Given the description of an element on the screen output the (x, y) to click on. 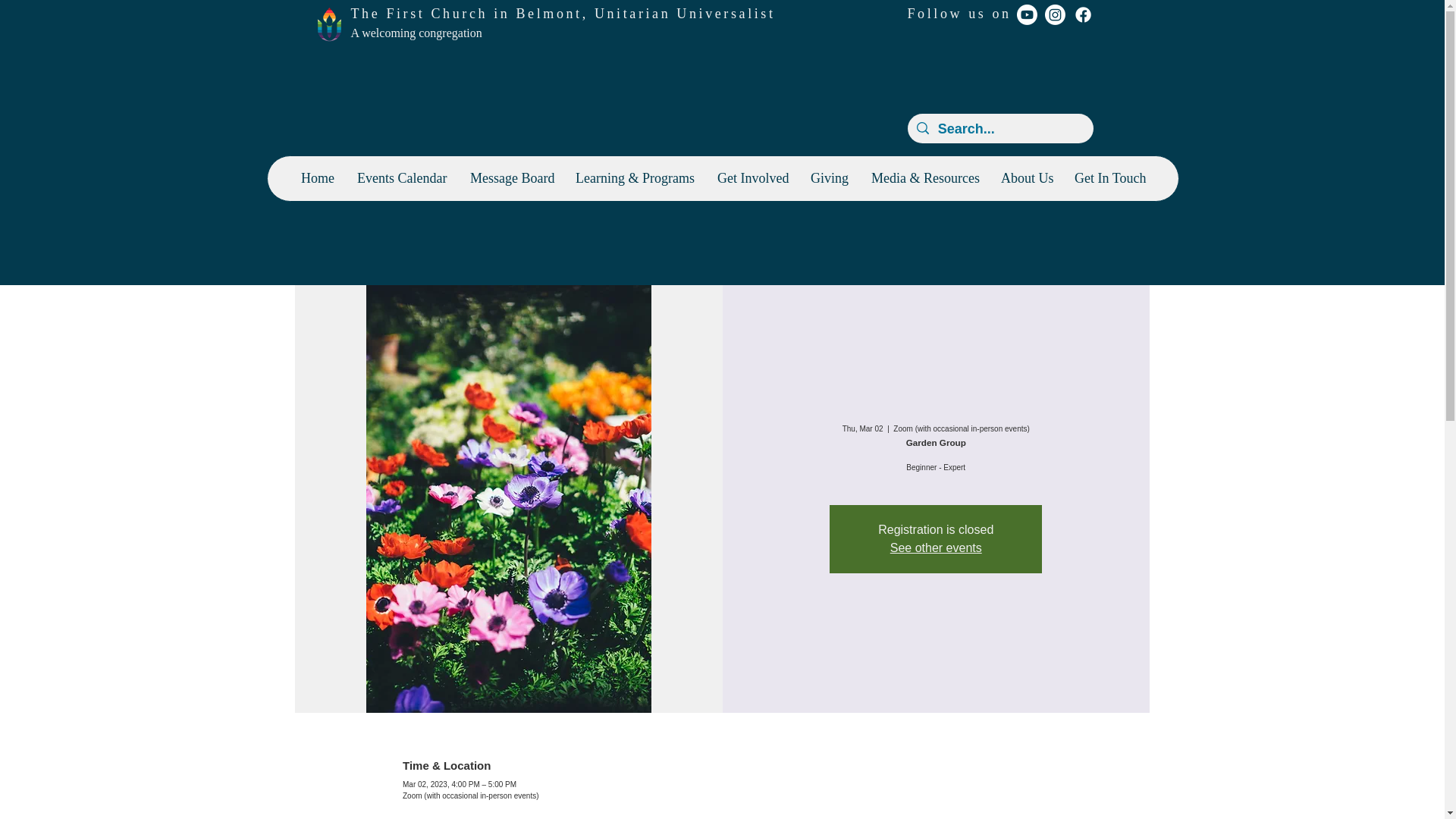
First Church in Belmont, Unitarian Universalist (579, 13)
Home (316, 178)
Follow us on (958, 13)
Message Board (510, 178)
The (367, 13)
Events Calendar (401, 178)
